Given the description of an element on the screen output the (x, y) to click on. 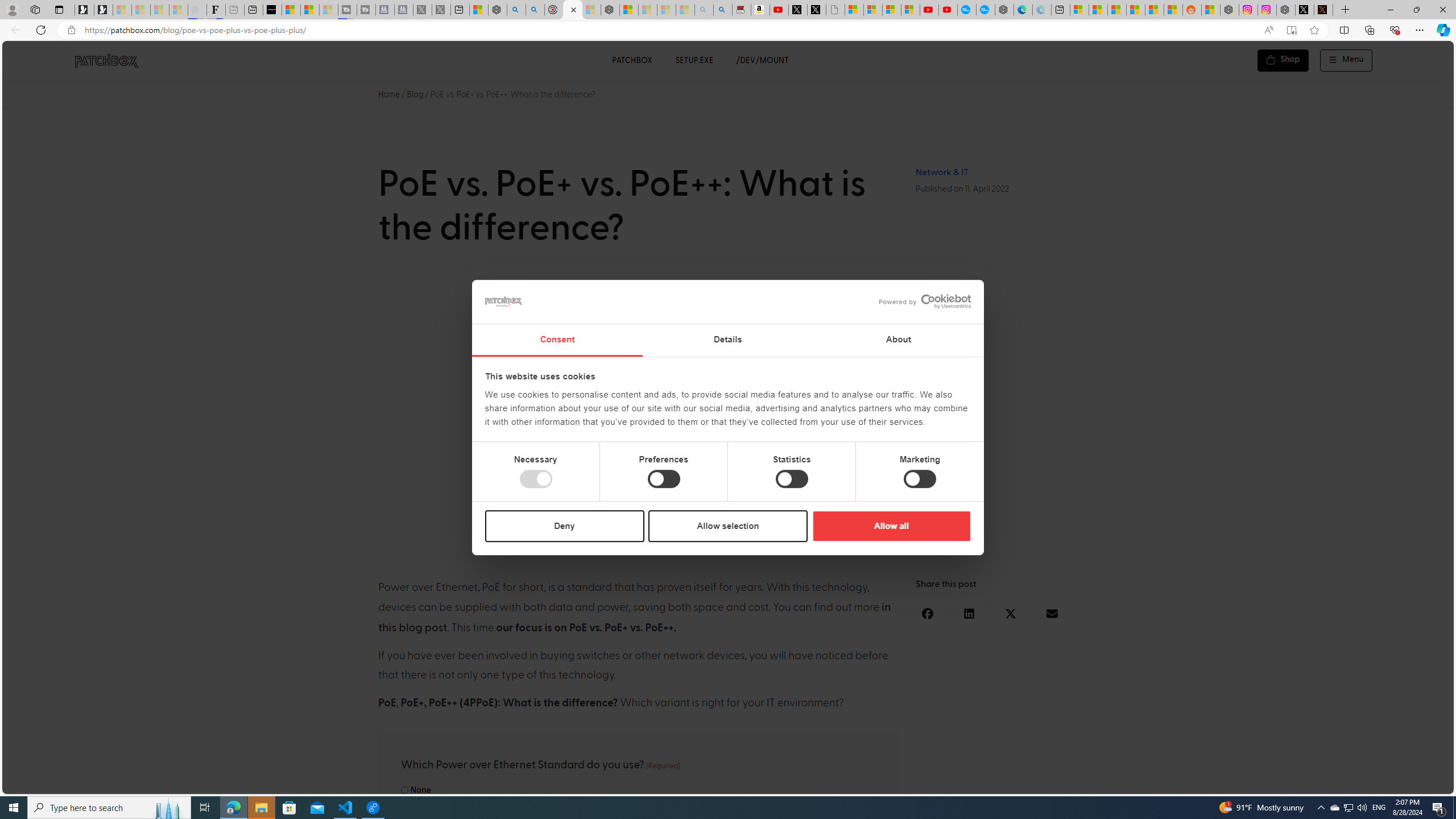
Language switcher : Croatian (1322, 782)
Preferences (663, 479)
PATCHBOX (631, 60)
Language switcher : Danish (1311, 782)
Blog (414, 94)
Language switcher : German (1231, 782)
Share on facebook (927, 613)
Language switcher : Slovak (1345, 782)
Statistics (791, 479)
